Given the description of an element on the screen output the (x, y) to click on. 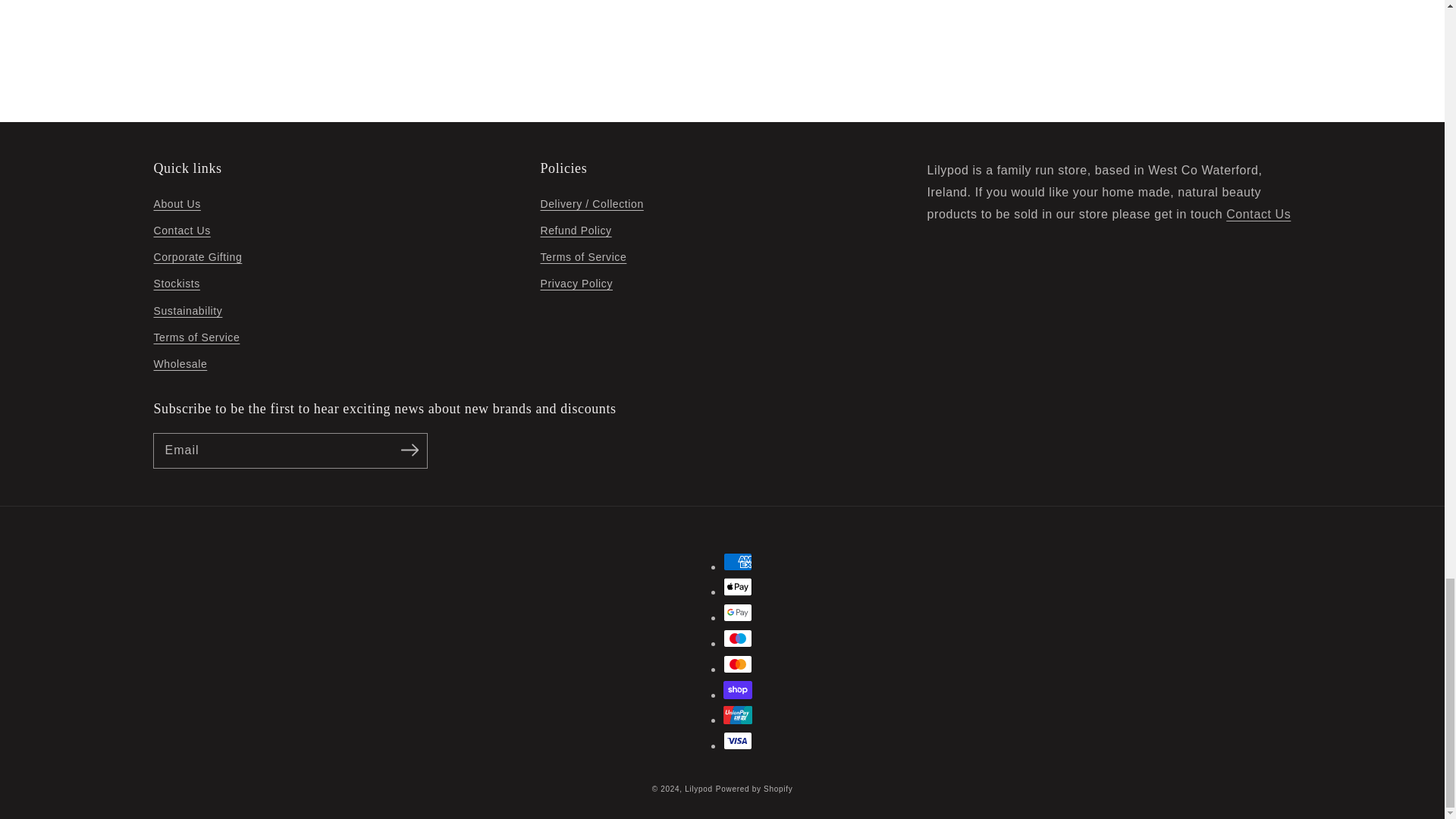
Contact (1257, 214)
Maestro (737, 638)
American Express (737, 561)
Union Pay (737, 714)
Shop Pay (737, 689)
Visa (737, 741)
Google Pay (737, 612)
Apple Pay (737, 587)
Mastercard (737, 664)
